Given the description of an element on the screen output the (x, y) to click on. 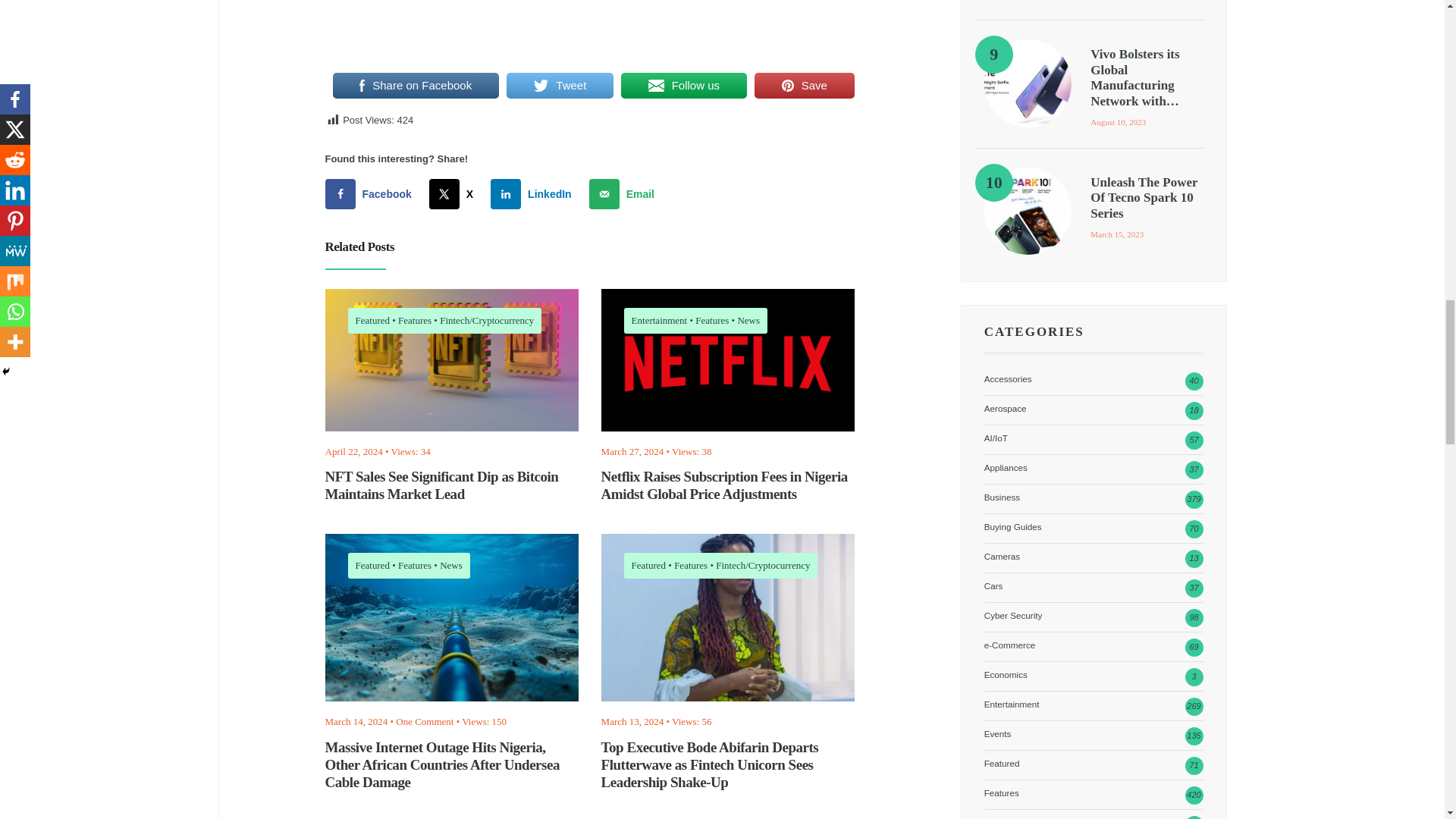
Send over email (625, 194)
Share on LinkedIn (534, 194)
Share on Facebook (370, 194)
Share on X (454, 194)
